Given the description of an element on the screen output the (x, y) to click on. 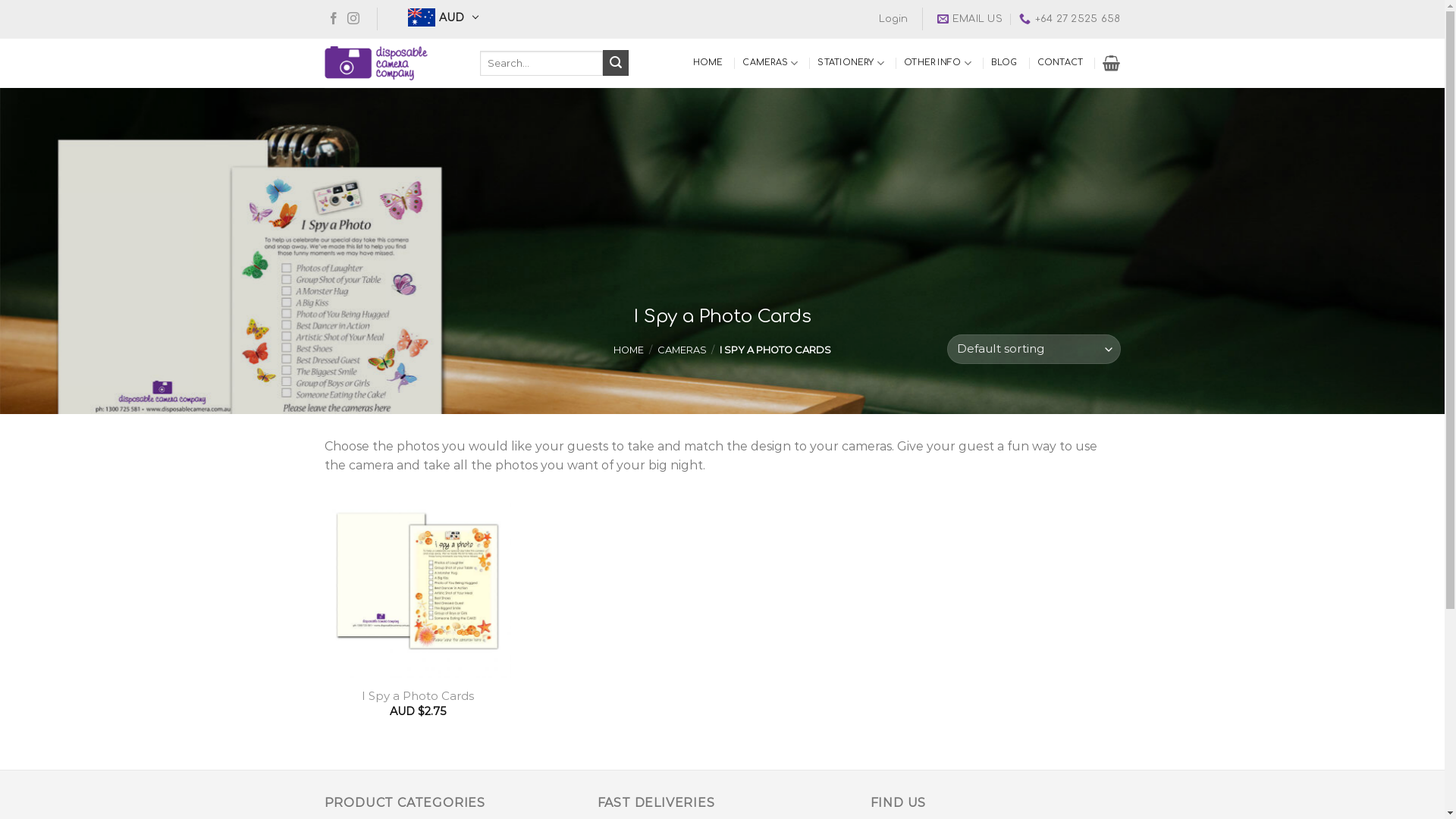
Cart Element type: hover (1111, 62)
I Spy a Photo Cards Element type: text (417, 695)
OTHER INFO Element type: text (937, 63)
CAMERAS Element type: text (681, 349)
Login Element type: text (892, 18)
EMAIL US Element type: text (969, 18)
Follow on Facebook Element type: hover (333, 18)
Disposable Camera Company Element type: hover (390, 62)
CAMERAS Element type: text (769, 63)
HOME Element type: text (708, 62)
HOME Element type: text (628, 349)
+64 27 2525 658 Element type: text (1069, 18)
Search Element type: text (615, 62)
STATIONERY Element type: text (850, 63)
CONTACT Element type: text (1060, 62)
Follow on Instagram Element type: hover (353, 18)
BLOG Element type: text (1004, 62)
